Given the description of an element on the screen output the (x, y) to click on. 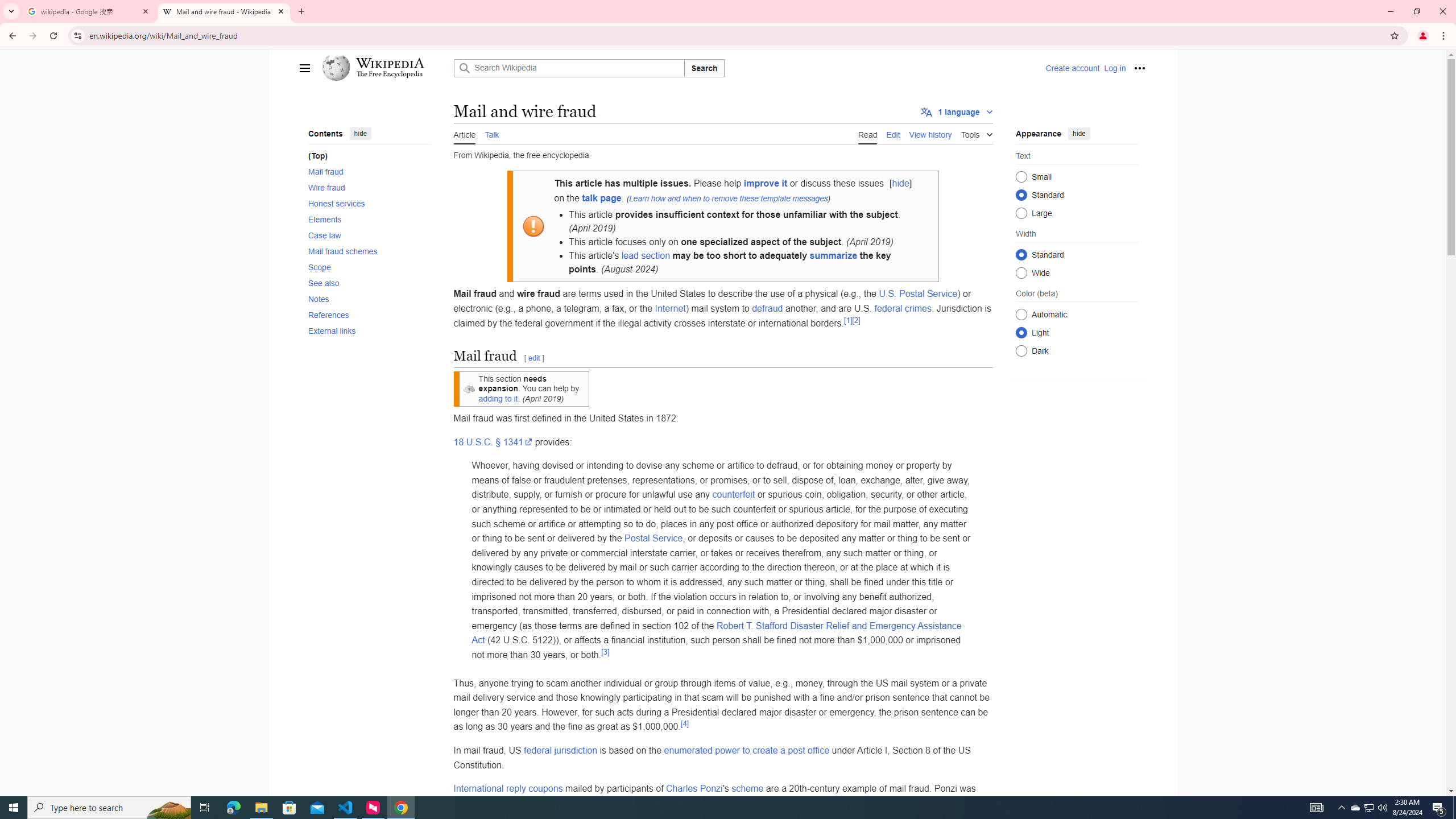
[2] (855, 320)
Charles Ponzi (693, 788)
Wire fraud (368, 187)
Light (1020, 332)
talk page (601, 197)
adding to it (498, 397)
Mail fraud schemes (368, 251)
defraud (767, 308)
International reply coupons (507, 788)
